Given the description of an element on the screen output the (x, y) to click on. 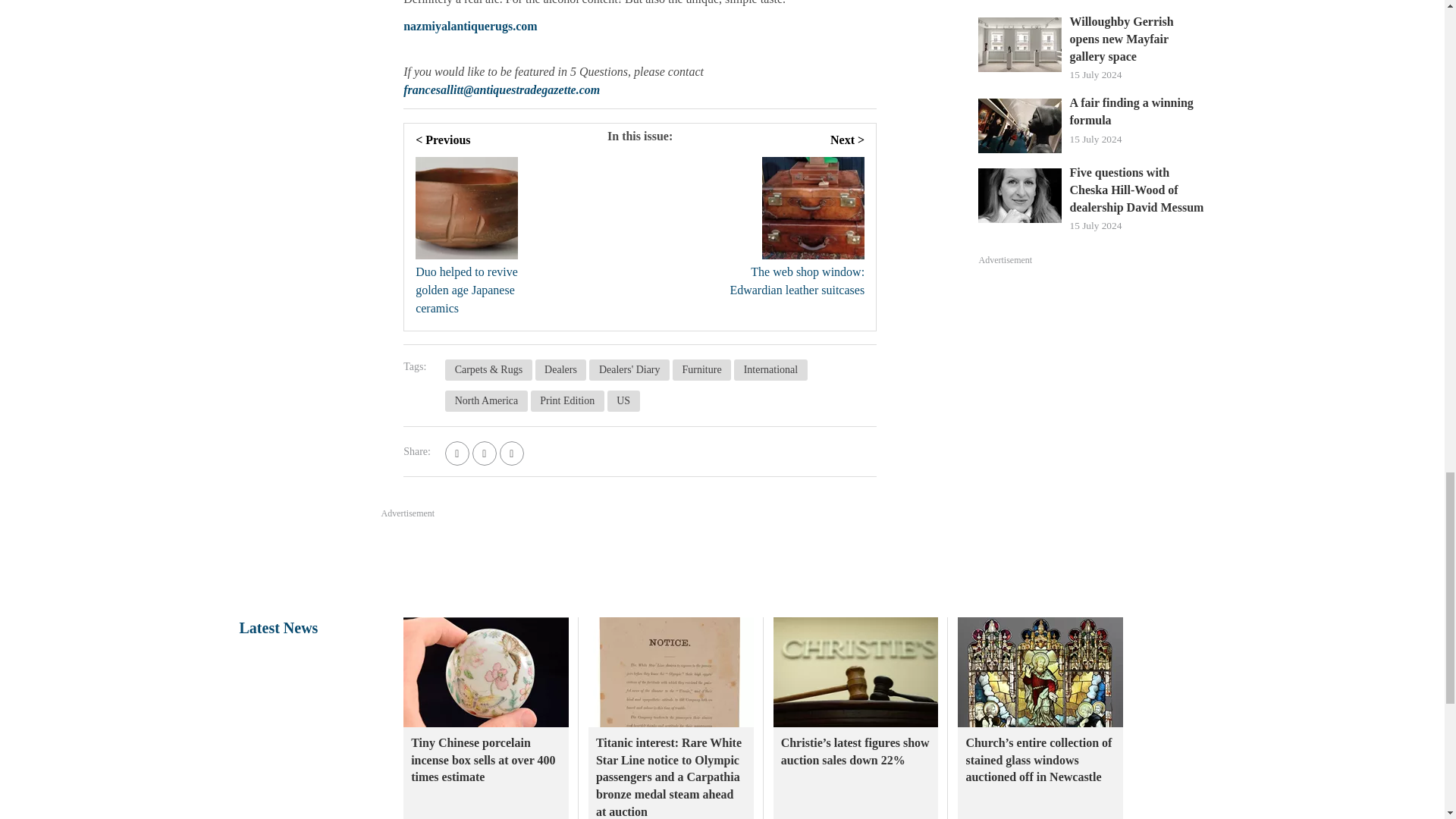
3rd party ad content (1091, 380)
3rd party ad content (721, 562)
Willoughby Gerrish opens new Mayfair gallery space (1136, 39)
A fair finding a winning formula (1136, 111)
